Given the description of an element on the screen output the (x, y) to click on. 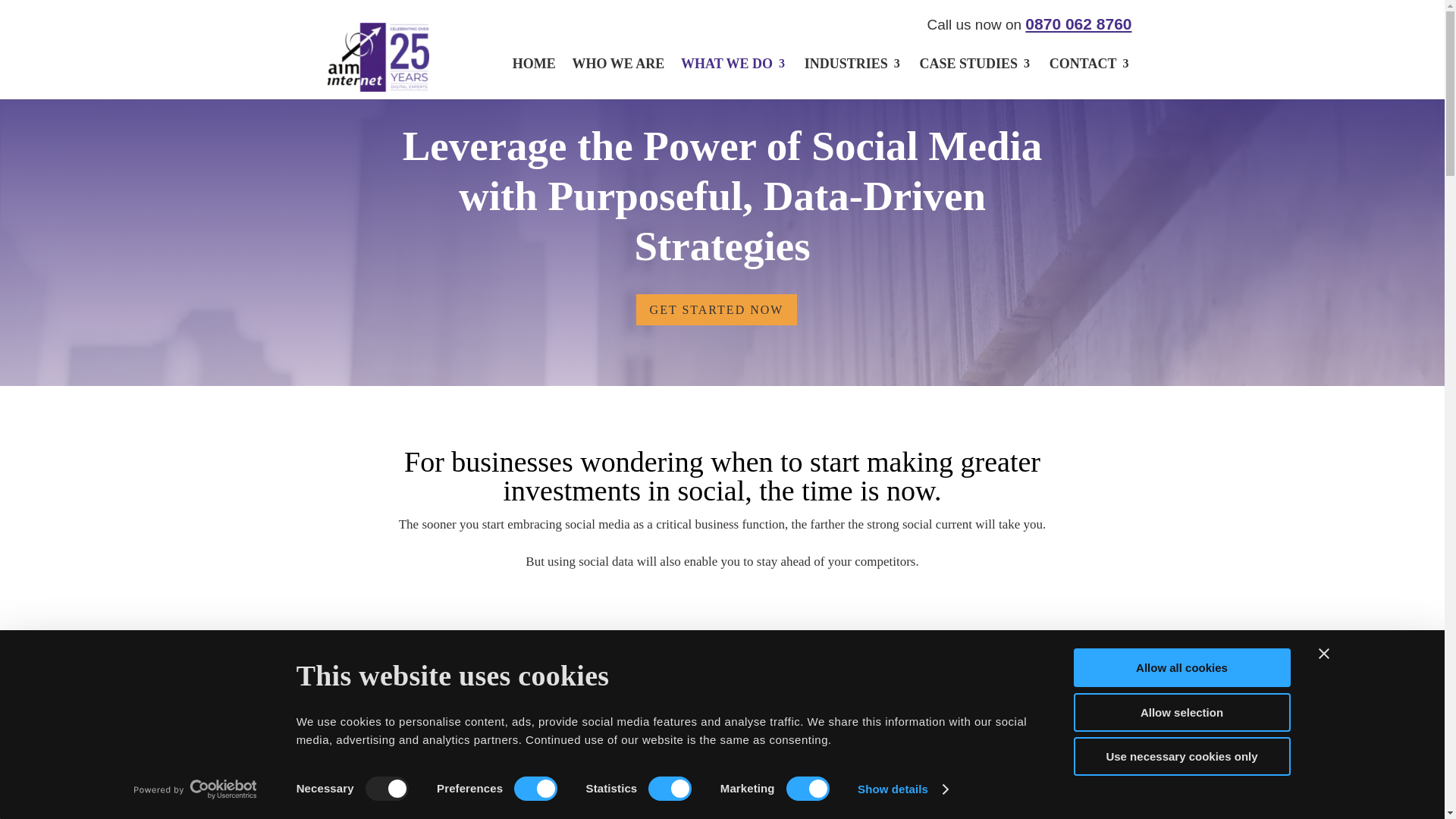
Show details (902, 789)
